Given the description of an element on the screen output the (x, y) to click on. 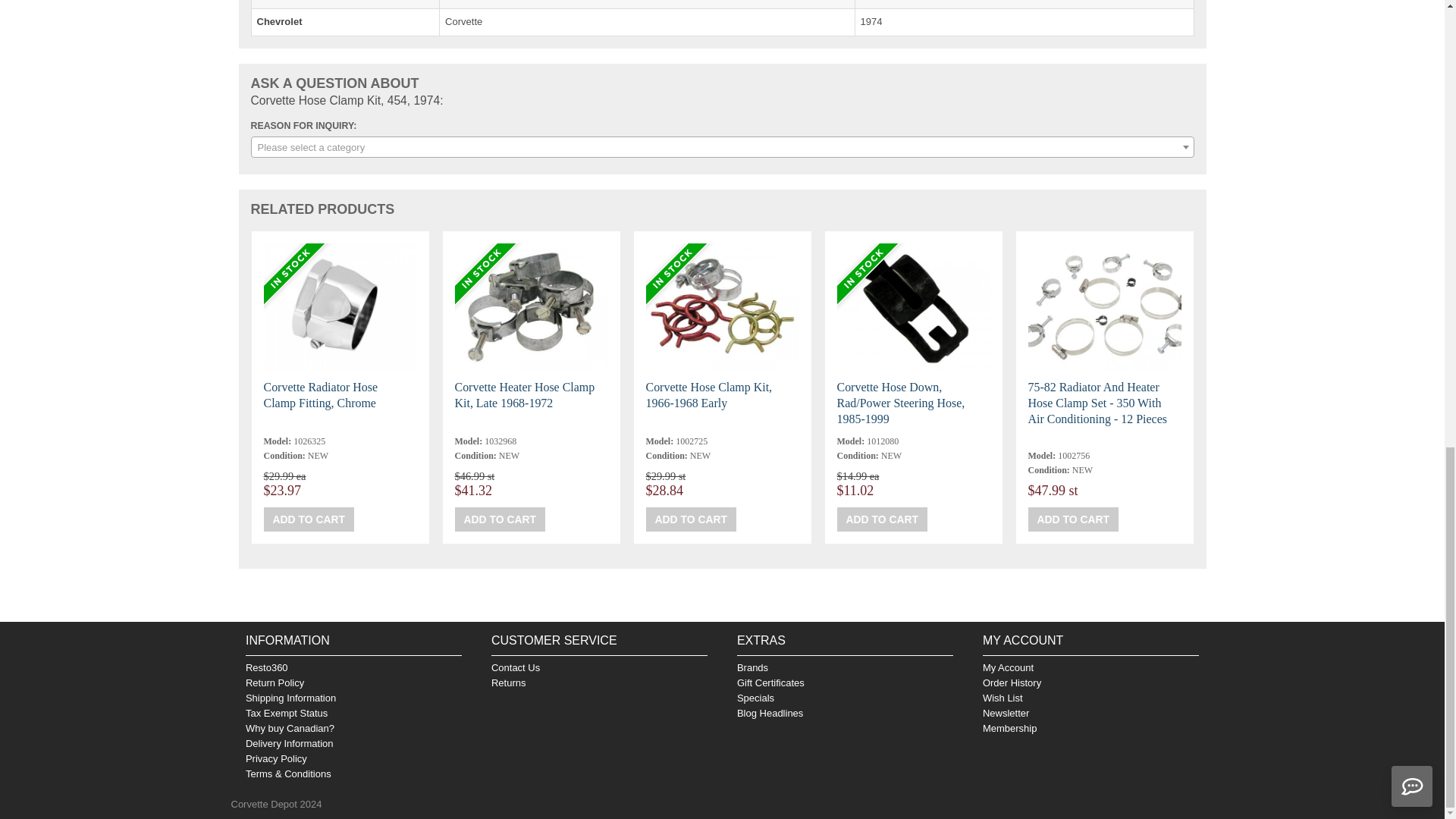
Add to Cart (691, 518)
Add to Cart (309, 518)
Add to Cart (882, 518)
Add to Cart (500, 518)
Add to Cart (1073, 518)
